Given the description of an element on the screen output the (x, y) to click on. 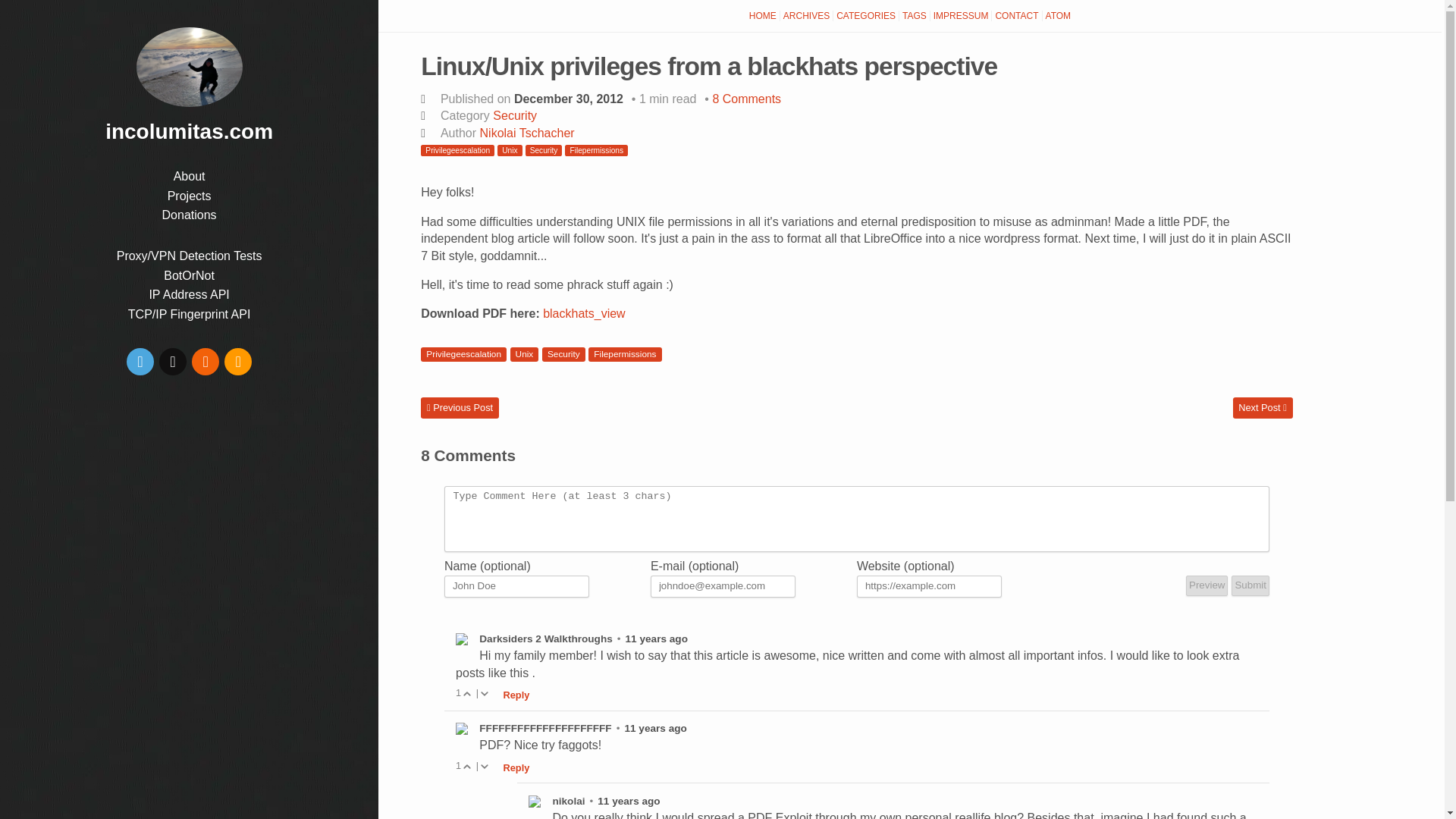
Security (563, 354)
ATOM (1058, 15)
Unix (524, 354)
Submit (1249, 585)
incolumitas.com (189, 67)
Privilegeescalation (463, 354)
Projects (189, 195)
Filepermissions (595, 150)
Previous Post (459, 407)
Unix (509, 150)
CONTACT (1016, 15)
IP Address API (188, 294)
HOME (762, 15)
TAGS (914, 15)
ARCHIVES (806, 15)
